Given the description of an element on the screen output the (x, y) to click on. 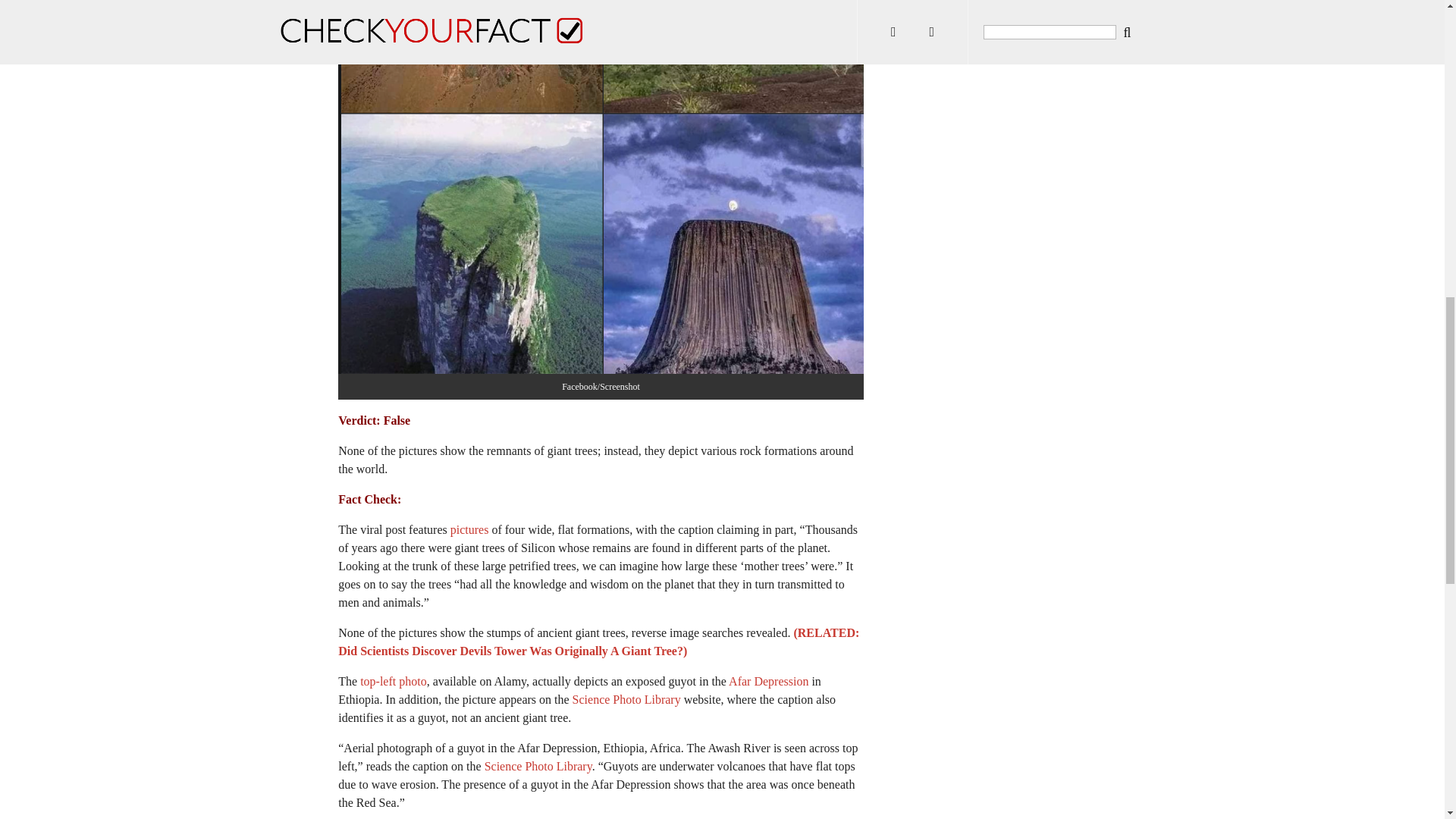
Afar Depression (768, 680)
Science Photo Library (538, 766)
Close window (18, 14)
Science Photo Library (626, 698)
pictures (469, 529)
top-left photo (392, 680)
